Given the description of an element on the screen output the (x, y) to click on. 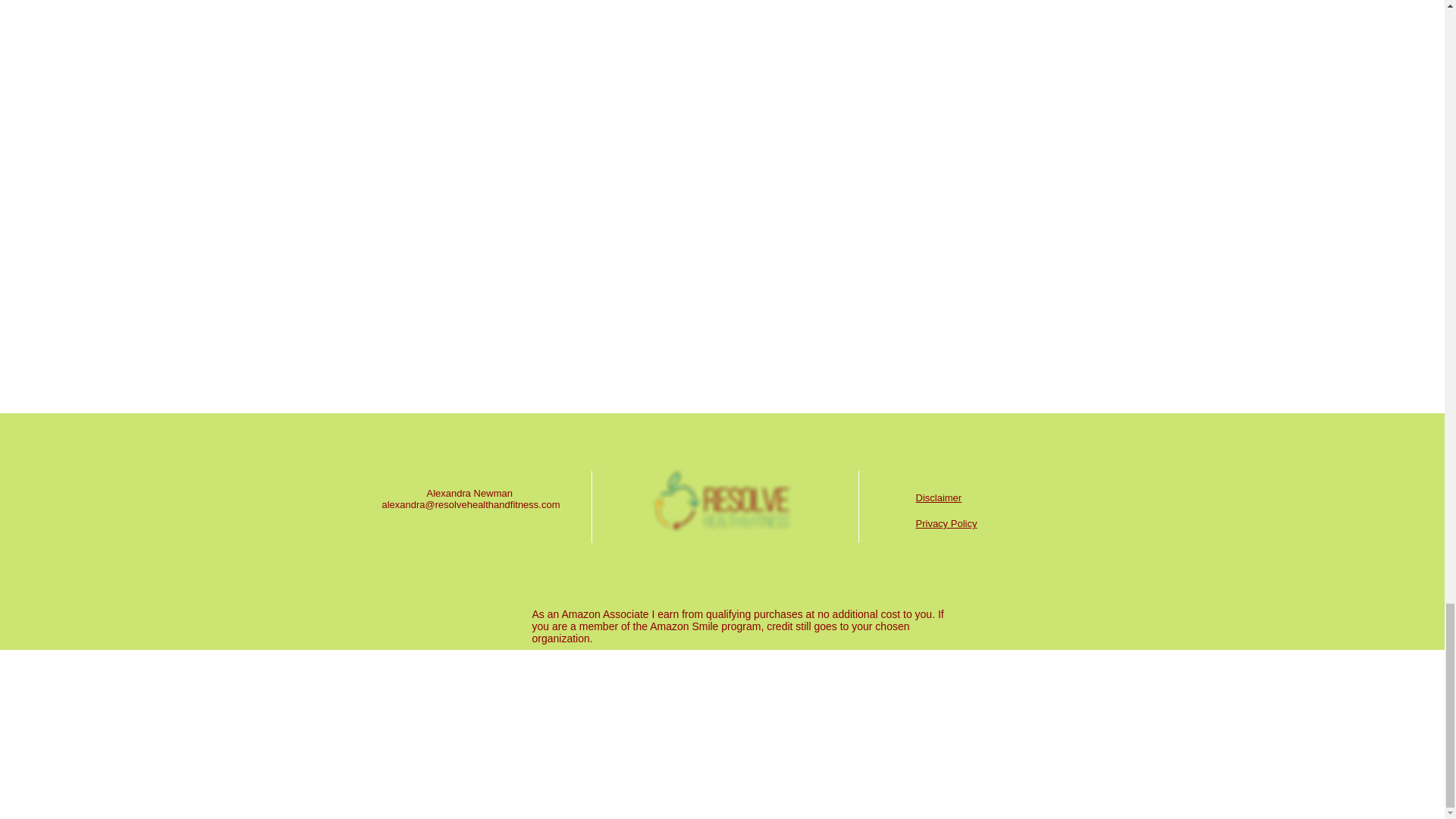
ResolveHF.png (722, 506)
Privacy Policy (945, 523)
Disclaimer (938, 497)
